Given the description of an element on the screen output the (x, y) to click on. 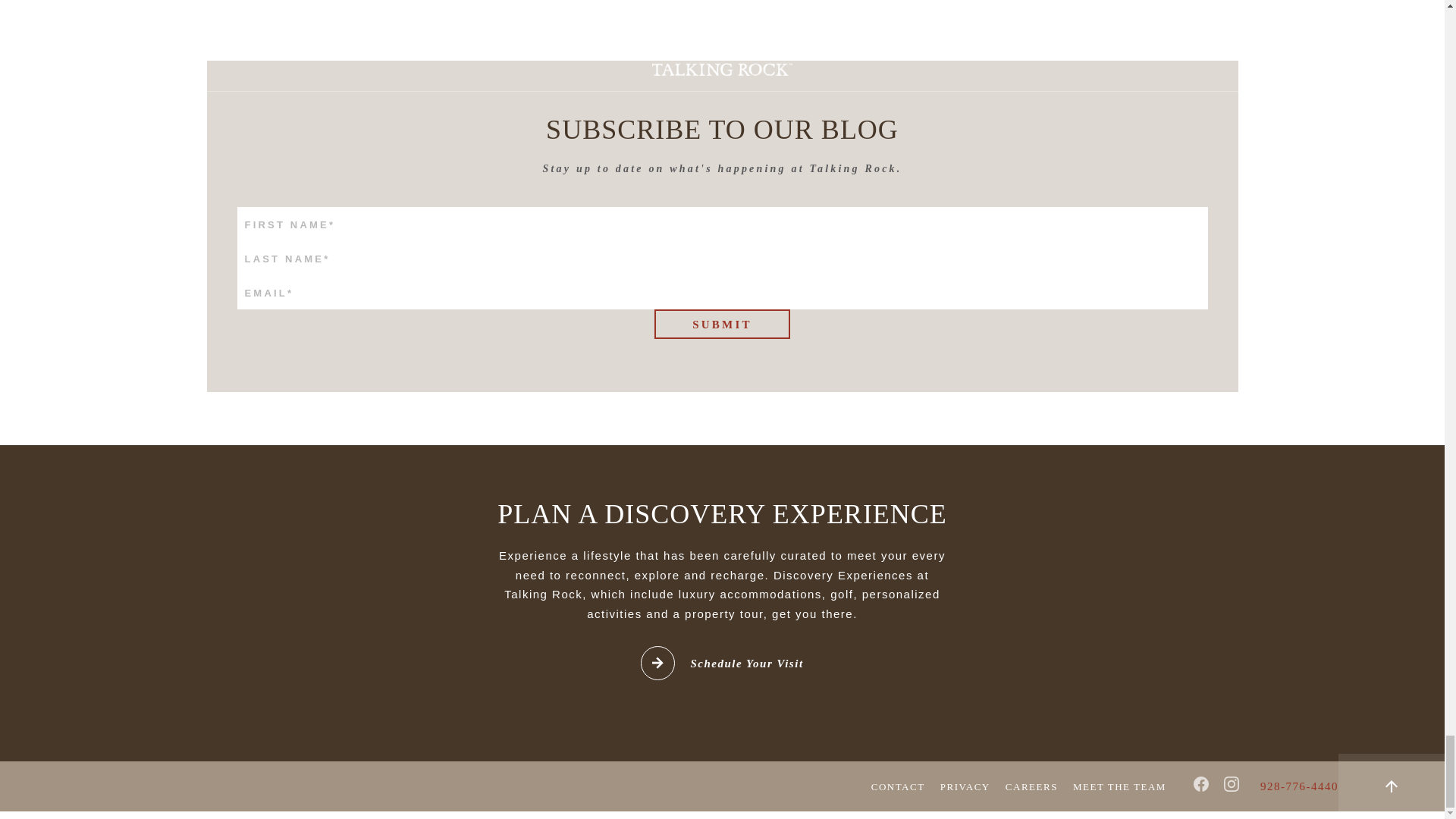
Instagram icon (1231, 783)
Facebook icon (1200, 783)
SUBMIT (721, 324)
